Given the description of an element on the screen output the (x, y) to click on. 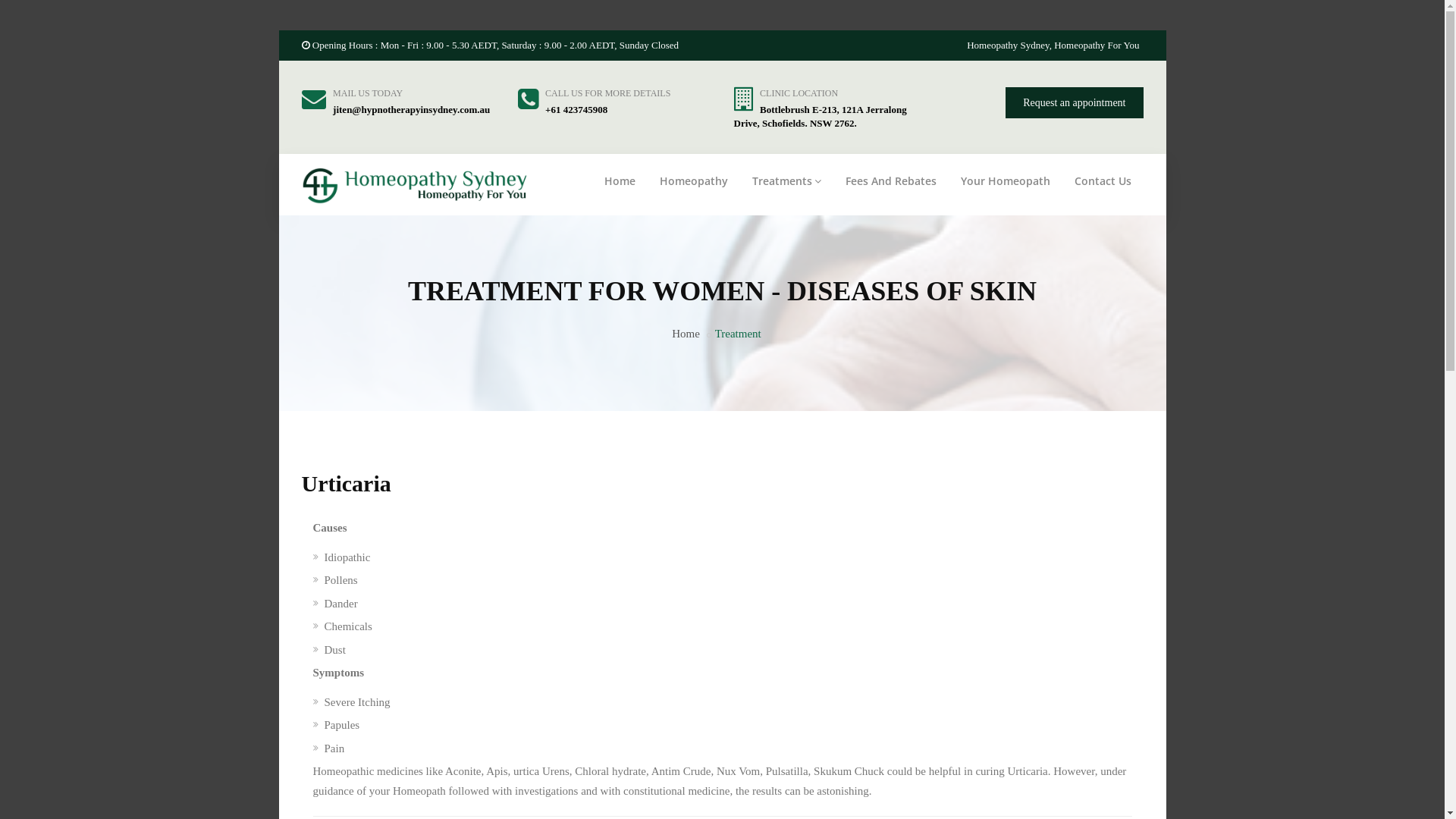
Treatments Element type: text (786, 180)
Homeopathy Sydney, Homeopathy For You Element type: text (1052, 44)
Home Element type: text (685, 333)
Homeopathy Element type: text (693, 180)
Contact Us Element type: text (1101, 180)
CALL US FOR MORE DETAILS Element type: text (607, 92)
Request an appointment Element type: text (1073, 102)
Home Element type: text (618, 180)
CLINIC LOCATION Element type: text (798, 92)
MAIL US TODAY Element type: text (367, 92)
Fees And Rebates Element type: text (889, 180)
Your Homeopath Element type: text (1004, 180)
